Given the description of an element on the screen output the (x, y) to click on. 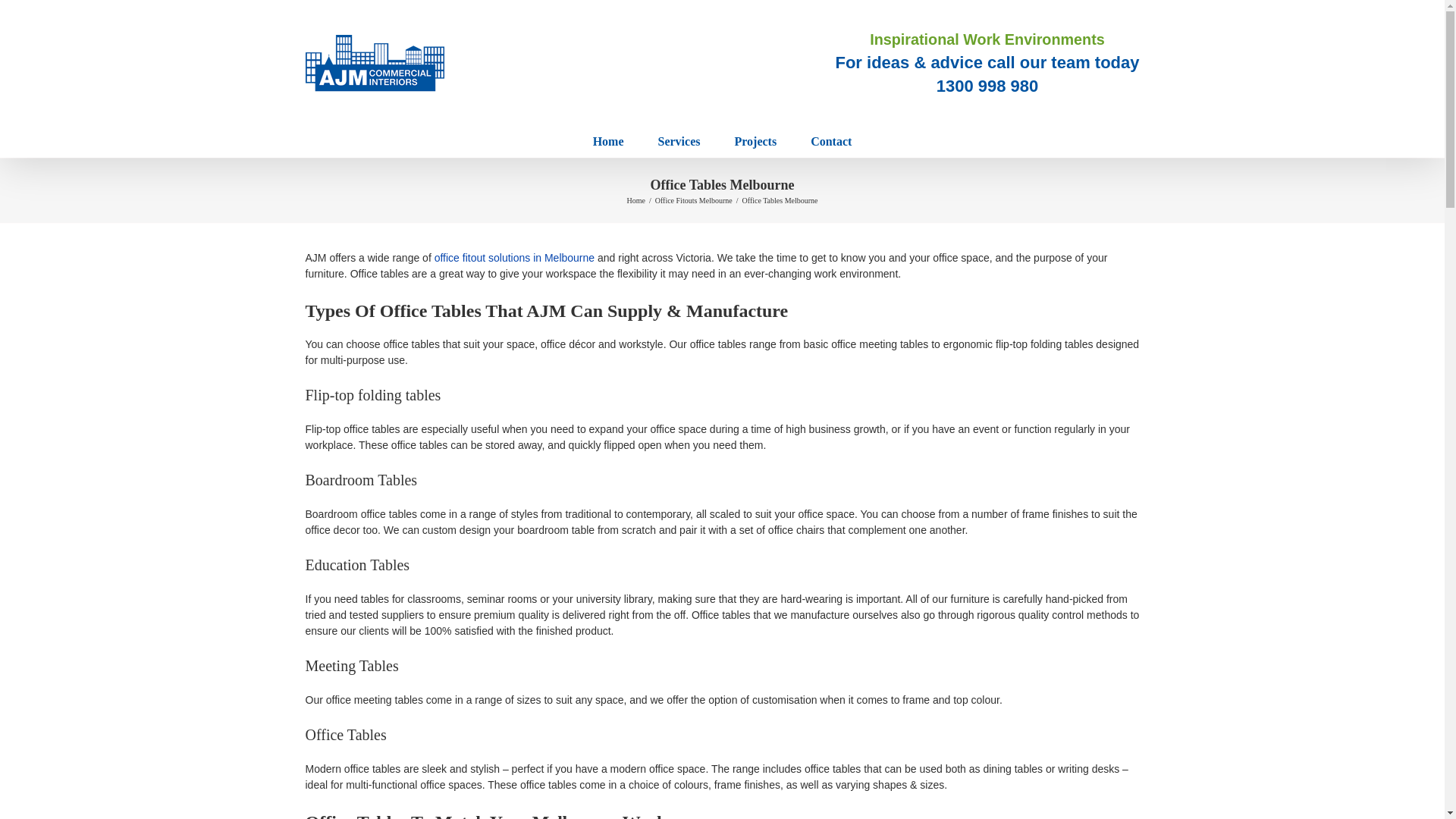
Home (635, 200)
Projects (754, 141)
Services (679, 141)
Home (608, 141)
Office Fitouts Melbourne (693, 200)
office fitout solutions in Melbourne (513, 257)
Contact (830, 141)
